Given the description of an element on the screen output the (x, y) to click on. 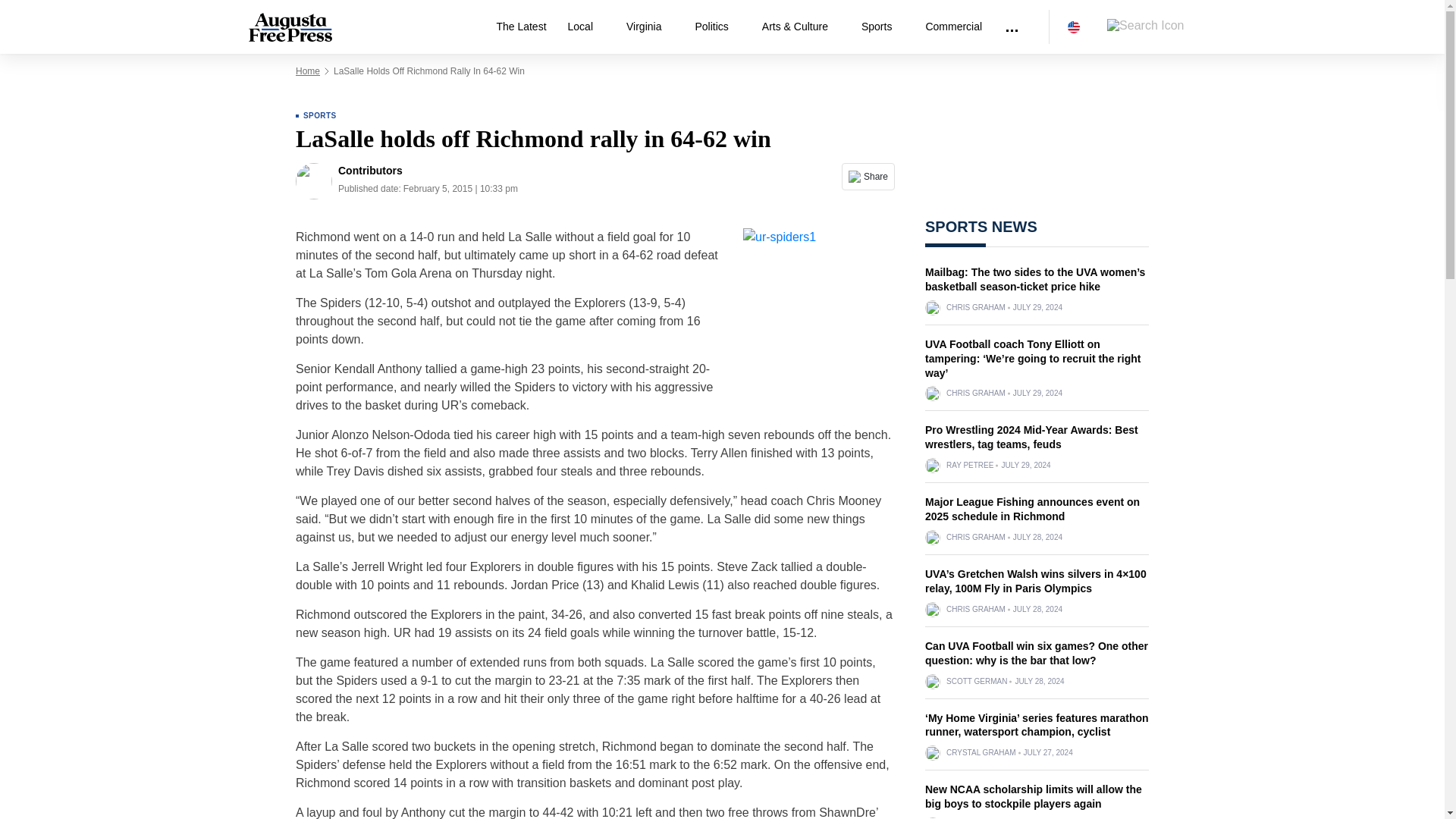
Commercial (953, 27)
The Latest (520, 27)
Local (586, 27)
Politics (717, 27)
Sports (882, 27)
Virginia (649, 27)
